Given the description of an element on the screen output the (x, y) to click on. 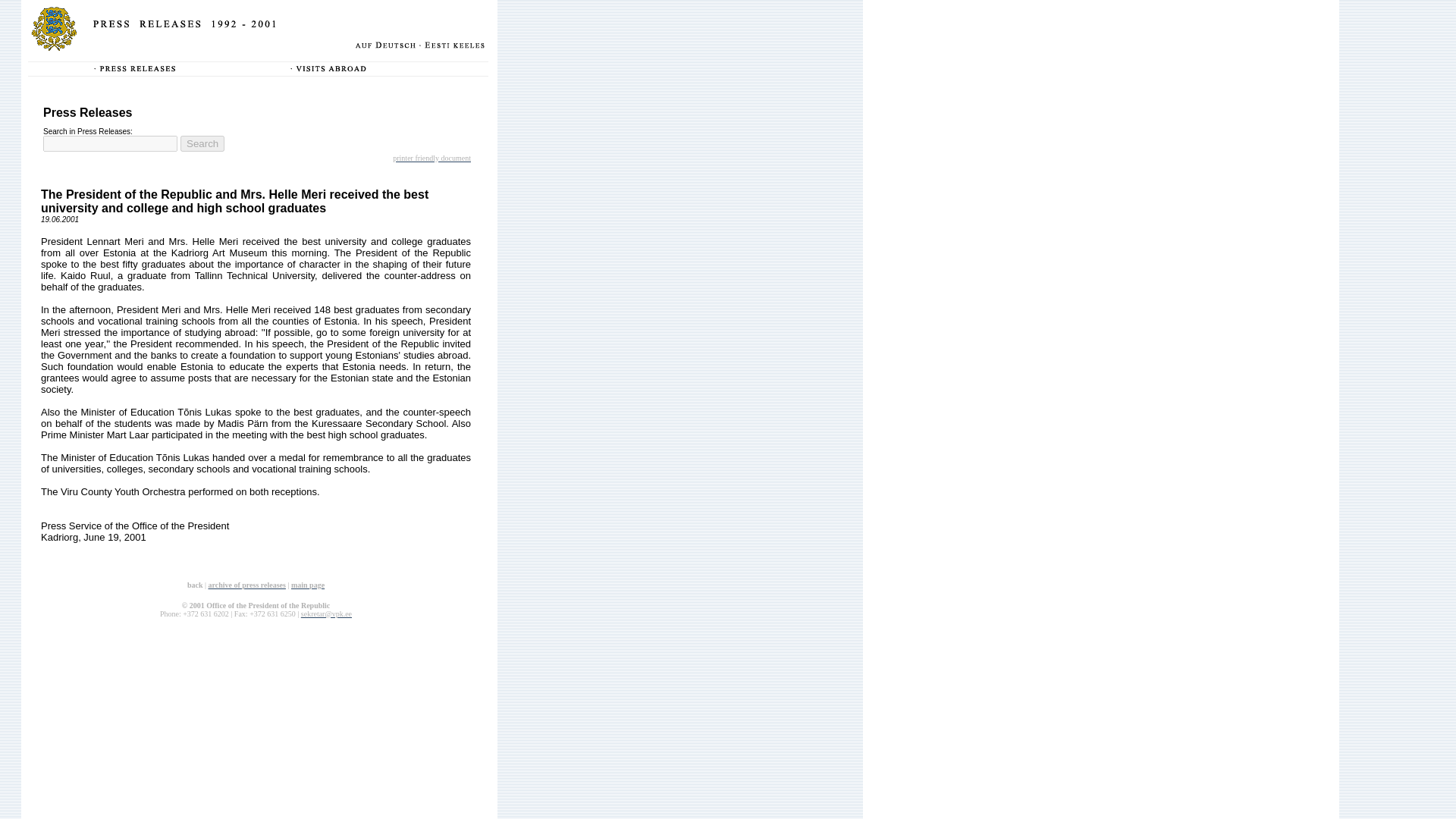
printer friendly document (431, 155)
archive of press releases (246, 584)
main page (307, 584)
back (195, 583)
Search (202, 143)
Search (202, 143)
